Given the description of an element on the screen output the (x, y) to click on. 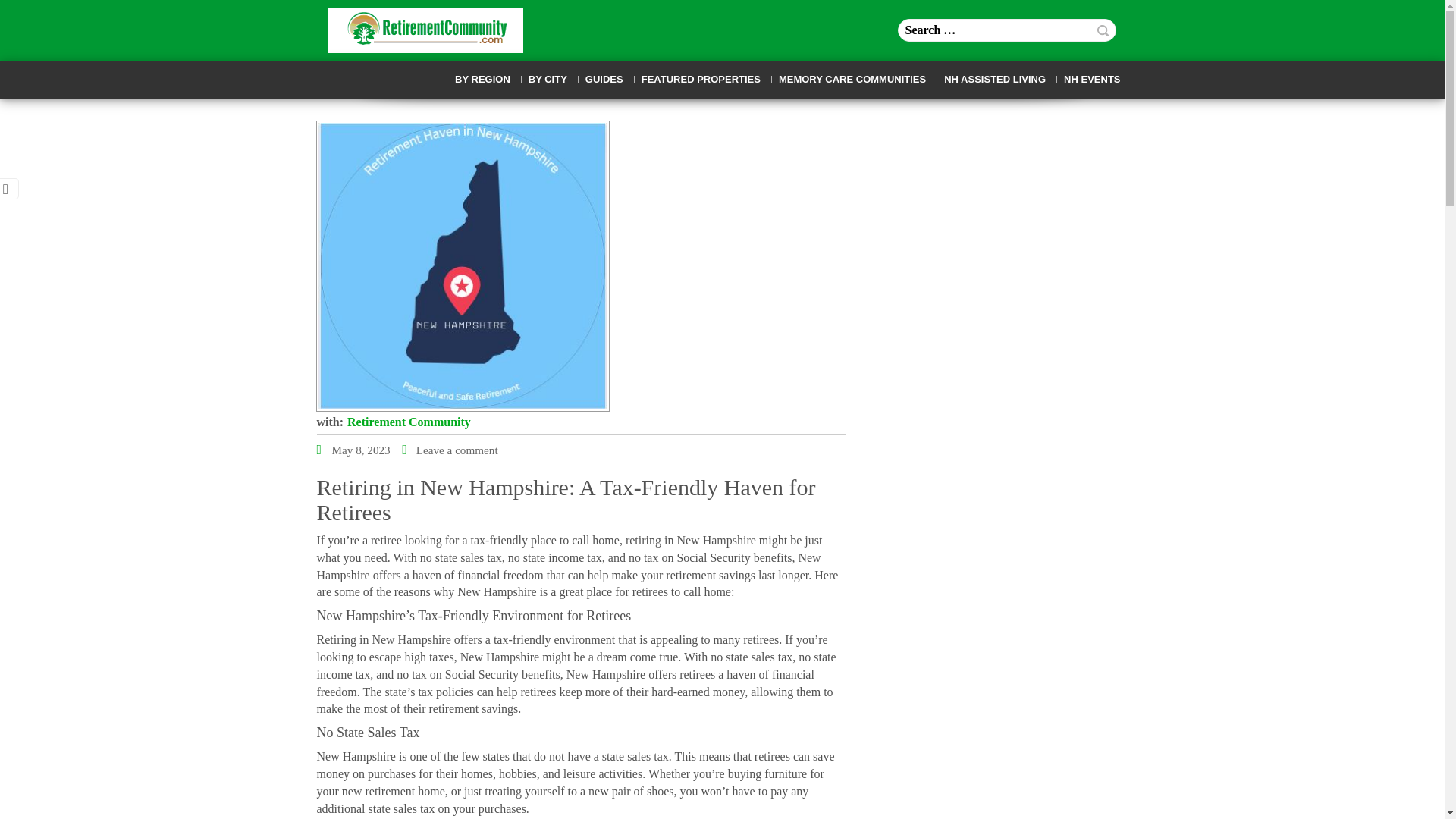
GUIDES (604, 79)
Search (1102, 30)
BY CITY (548, 79)
BY REGION (482, 79)
